Given the description of an element on the screen output the (x, y) to click on. 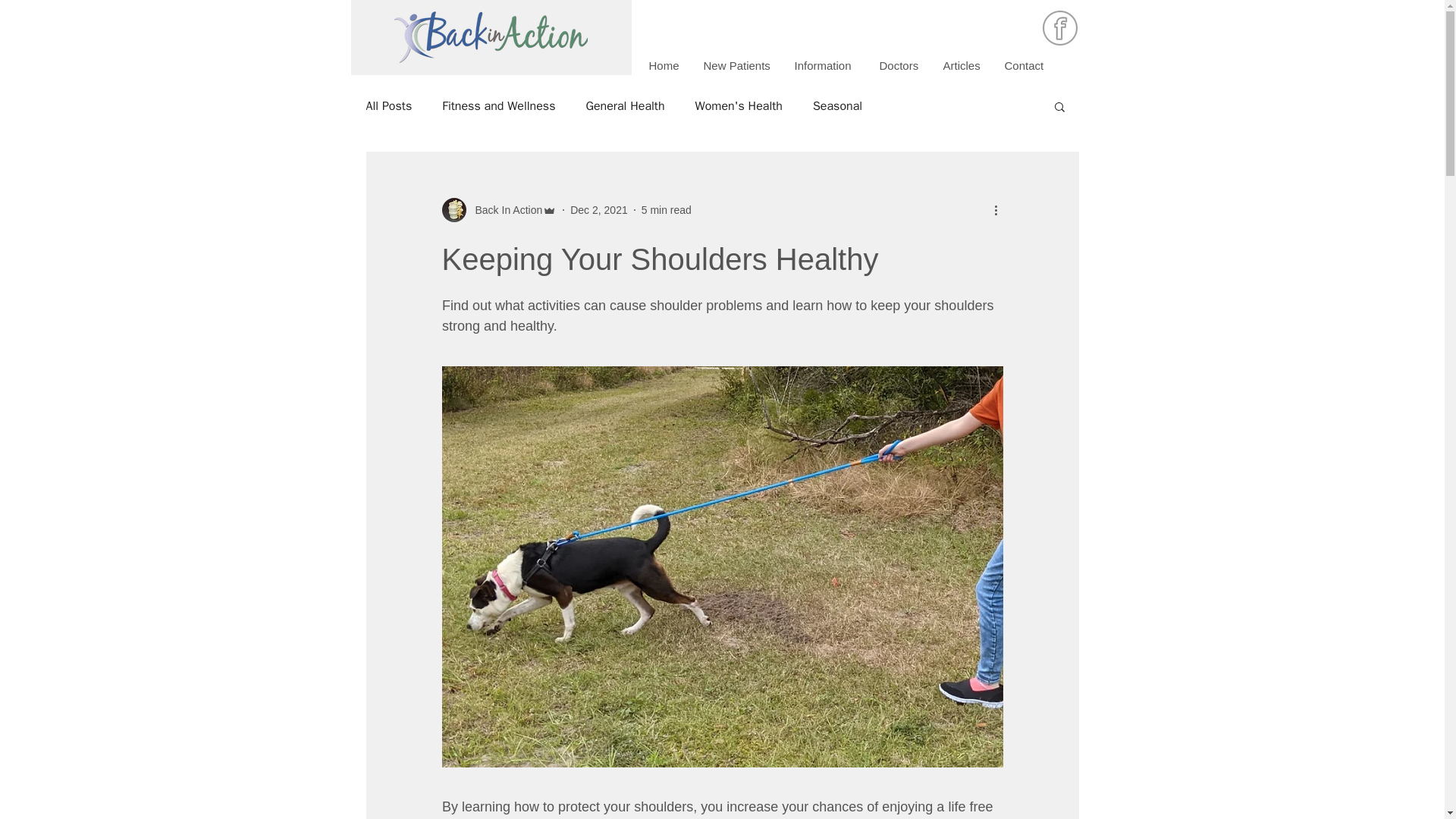
All Posts (388, 106)
Contact (1023, 65)
Information (825, 65)
Women's Health (739, 106)
Doctors (899, 65)
Seasonal (836, 106)
Articles (961, 65)
Home (664, 65)
Dec 2, 2021 (598, 209)
New Patients (737, 65)
